Given the description of an element on the screen output the (x, y) to click on. 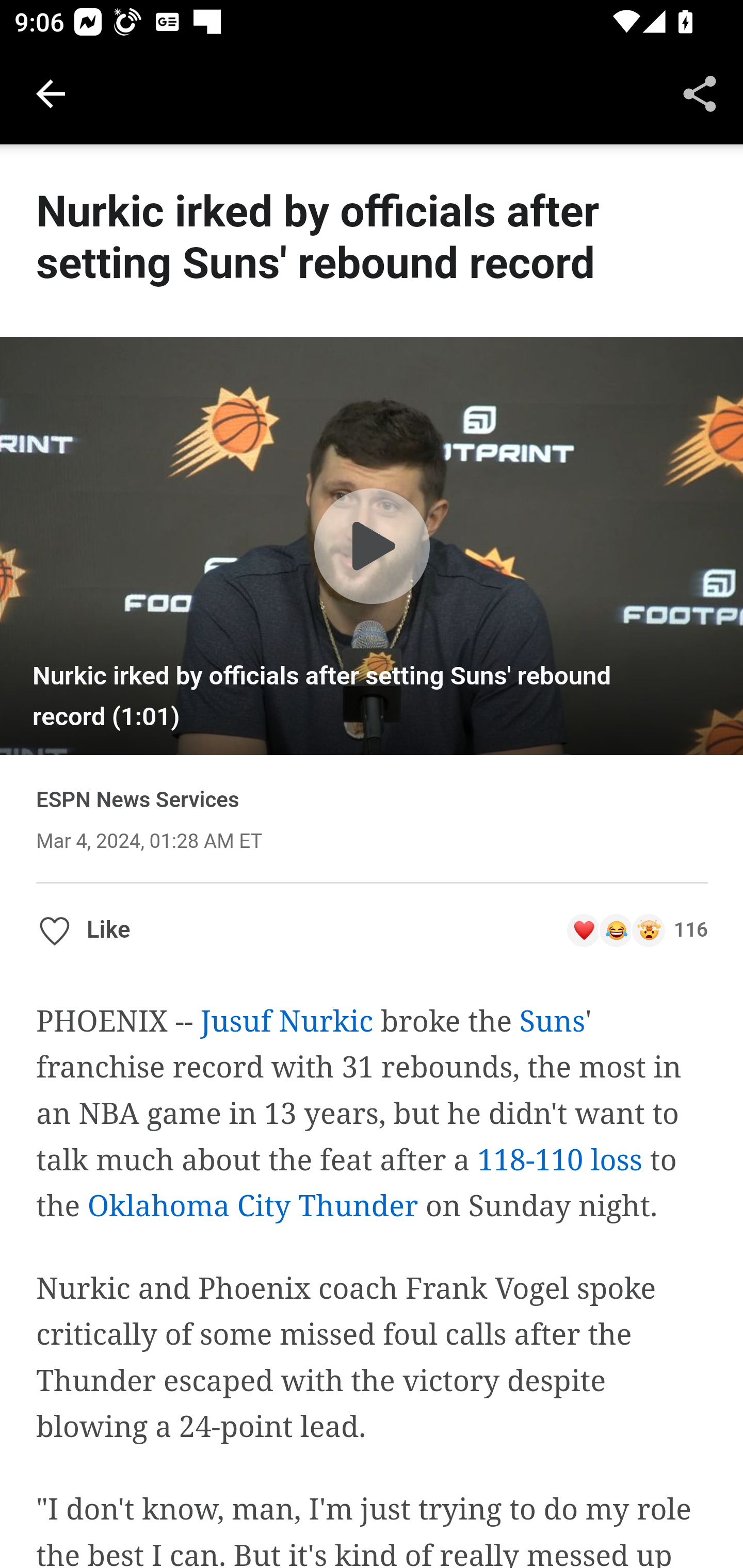
Navigate up (50, 93)
Share (699, 93)
